Given the description of an element on the screen output the (x, y) to click on. 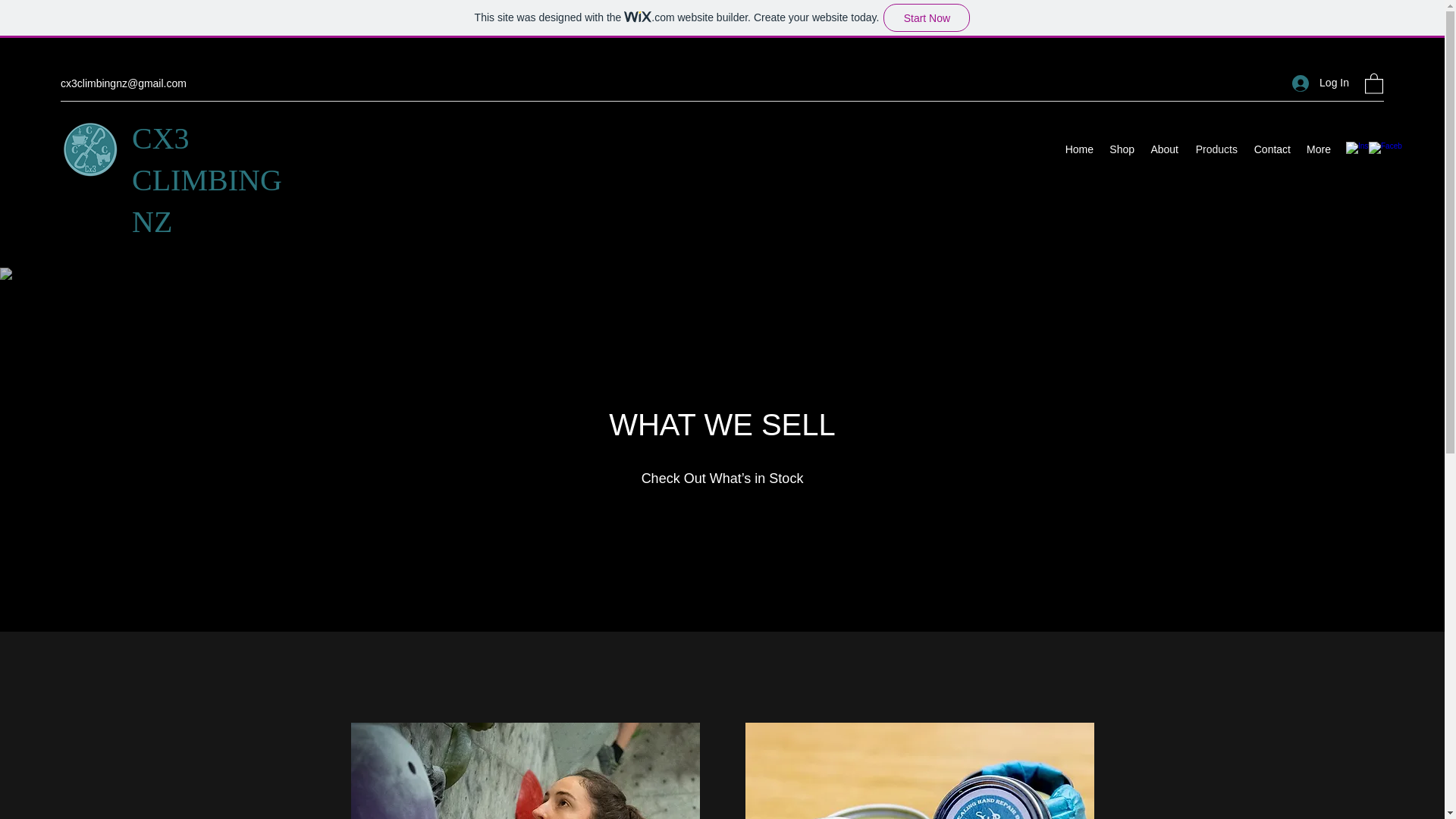
Home (1078, 149)
CX3 CLIMBING NZ (207, 180)
Contact (1271, 149)
About (1163, 149)
Shop (1120, 149)
Products (1215, 149)
Log In (1320, 82)
